Given the description of an element on the screen output the (x, y) to click on. 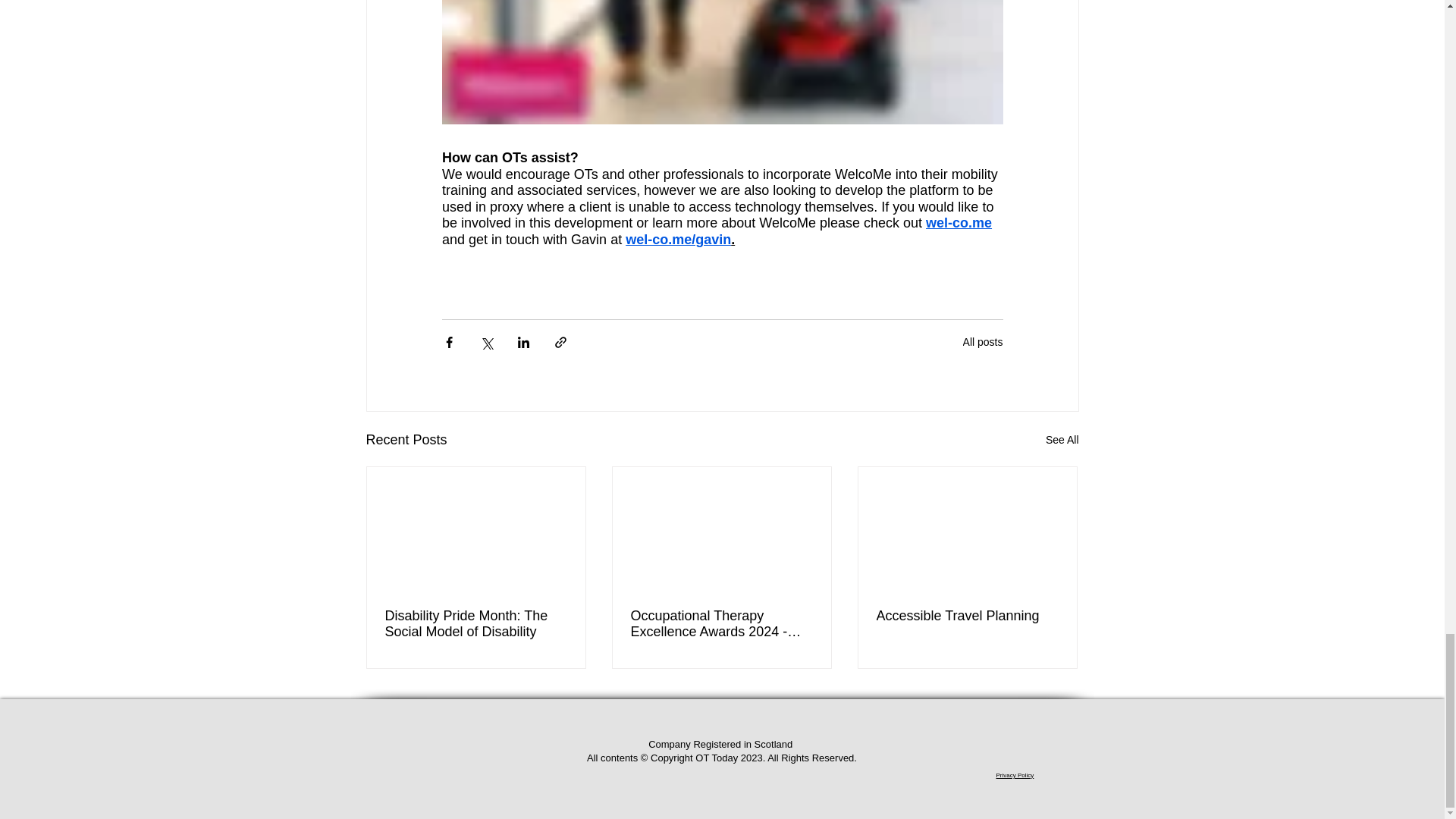
See All (1061, 440)
All posts (982, 341)
Privacy Policy (1014, 775)
wel-co.me (958, 223)
Disability Pride Month: The Social Model of Disability (476, 623)
Occupational Therapy Excellence Awards 2024 - Winners (721, 623)
Accessible Travel Planning (967, 616)
